Given the description of an element on the screen output the (x, y) to click on. 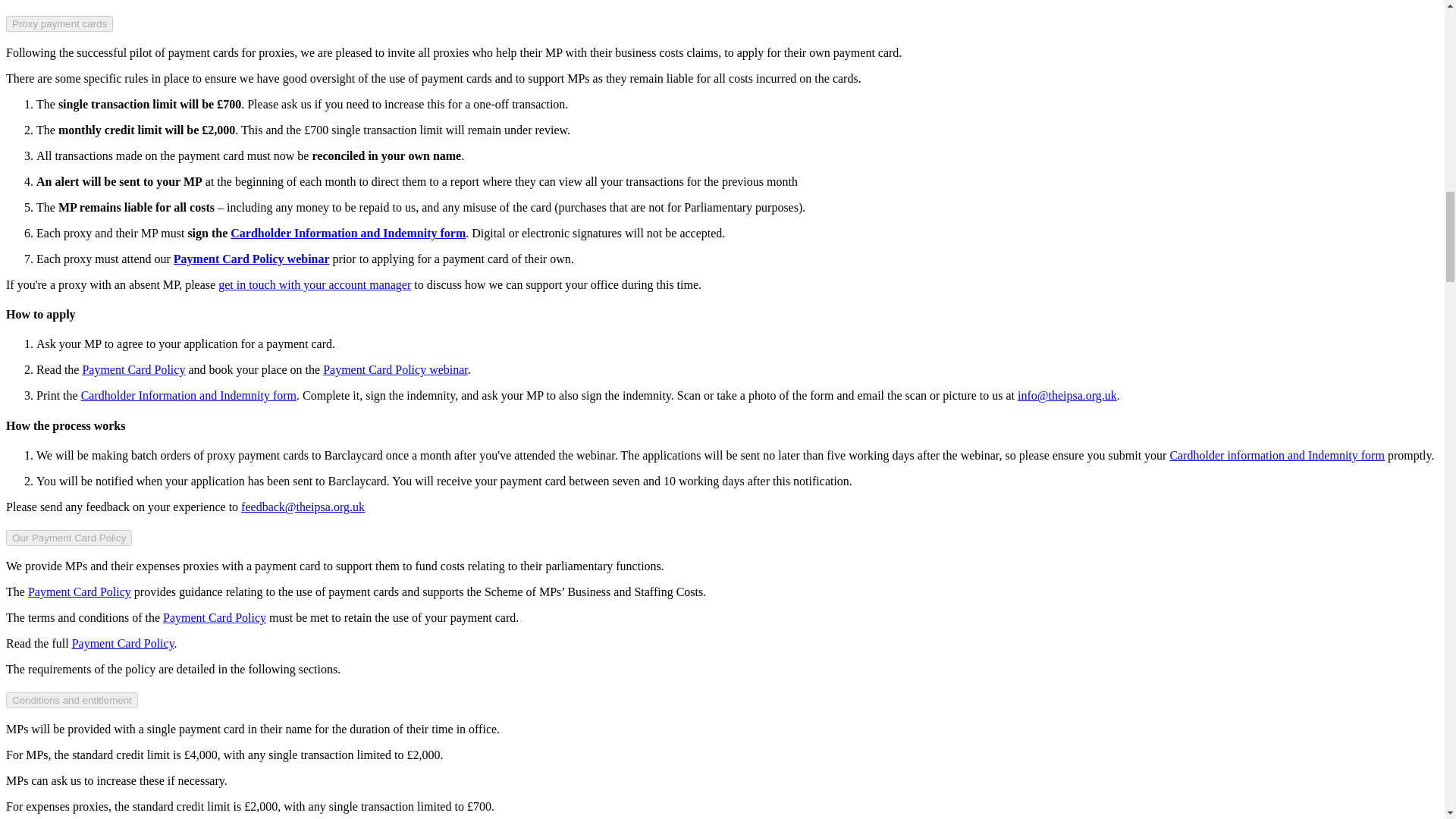
get in touch with your account manager (314, 284)
Cardholder Information and Indemnity form (189, 395)
Cardholder information and Indemnity form (1276, 454)
Payment Card Policy webinar (395, 369)
Payment Card Policy (132, 369)
Payment Card Policy webinar (251, 258)
Proxy payment cards (59, 23)
Cardholder Information and Indemnity form (347, 232)
